Given the description of an element on the screen output the (x, y) to click on. 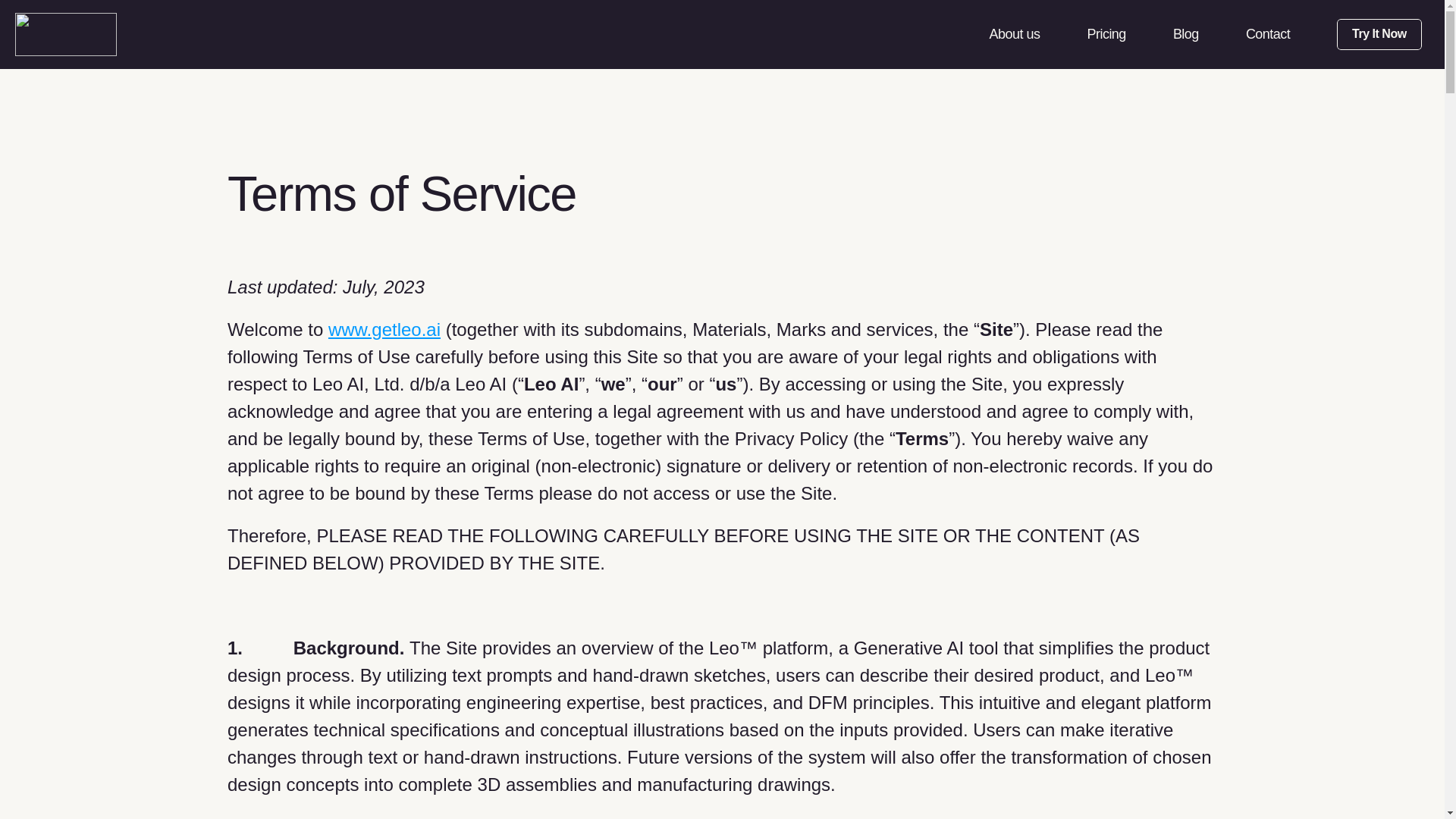
www.getleo.ai (385, 329)
Contact (1268, 33)
Try It Now (1379, 33)
Pricing (1105, 33)
About us (1013, 33)
Blog (1185, 33)
